Given the description of an element on the screen output the (x, y) to click on. 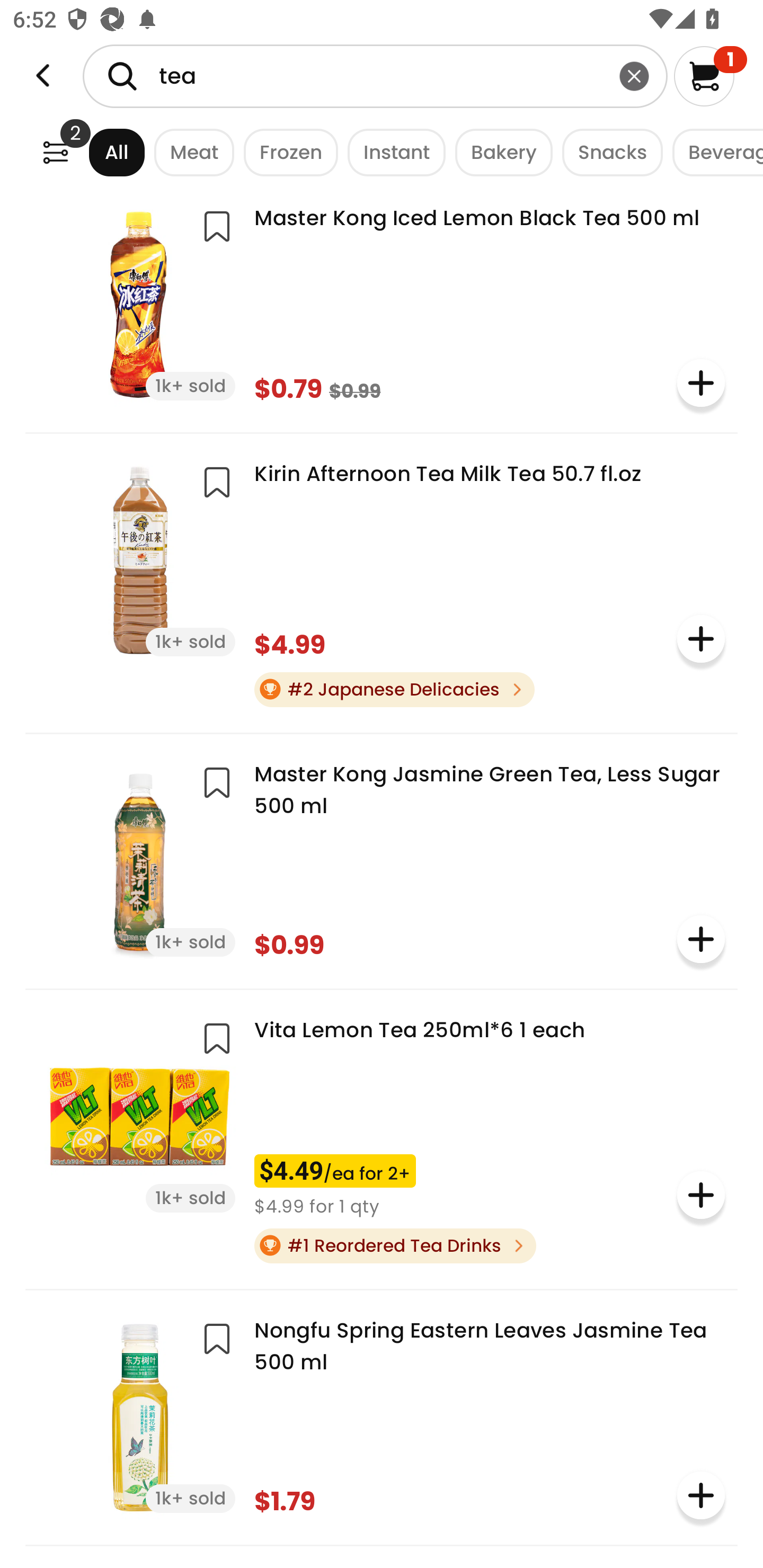
tea (374, 75)
1 (709, 75)
Weee! (42, 76)
Weee! (55, 151)
All (99, 151)
Meat (189, 151)
Frozen (286, 151)
Instant (391, 151)
Bakery (498, 151)
Snacks (607, 151)
Beverages (713, 151)
